Given the description of an element on the screen output the (x, y) to click on. 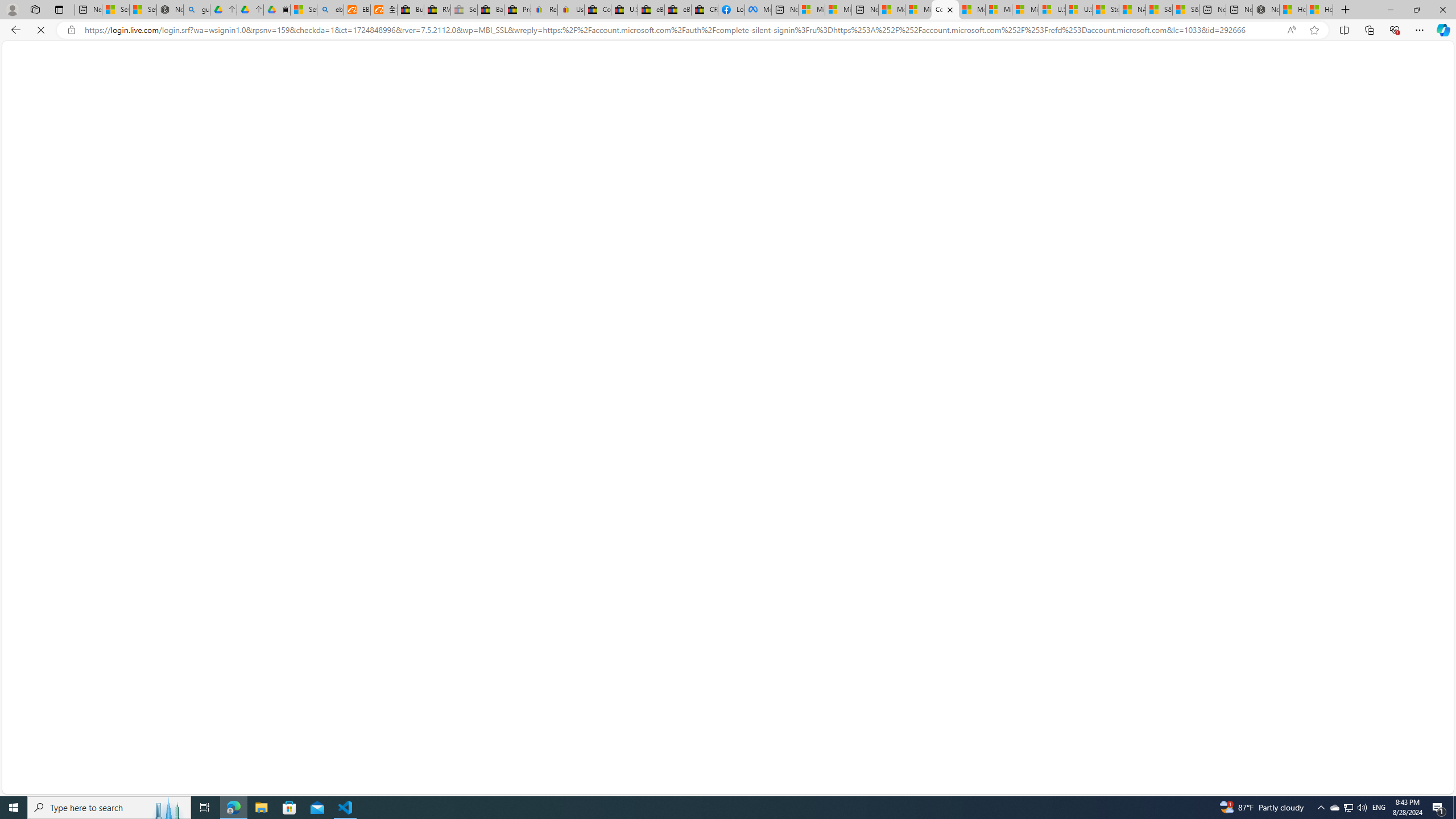
guge yunpan - Search (197, 9)
Consumer Health Data Privacy Policy - eBay Inc. (597, 9)
